Given the description of an element on the screen output the (x, y) to click on. 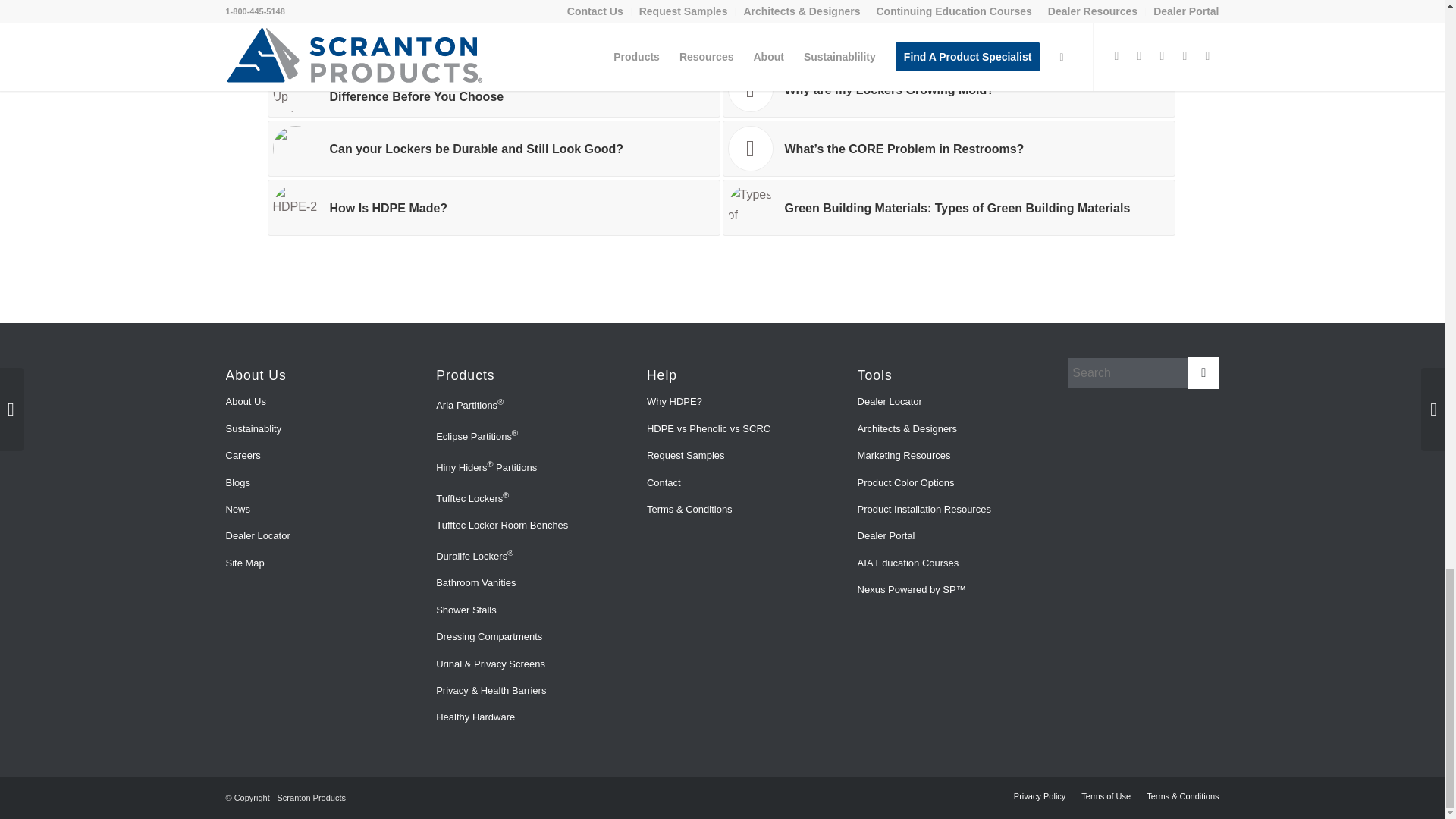
Close Up Stainless EX Texture (295, 89)
Why are my Lockers Growing Mold? (948, 89)
